Given the description of an element on the screen output the (x, y) to click on. 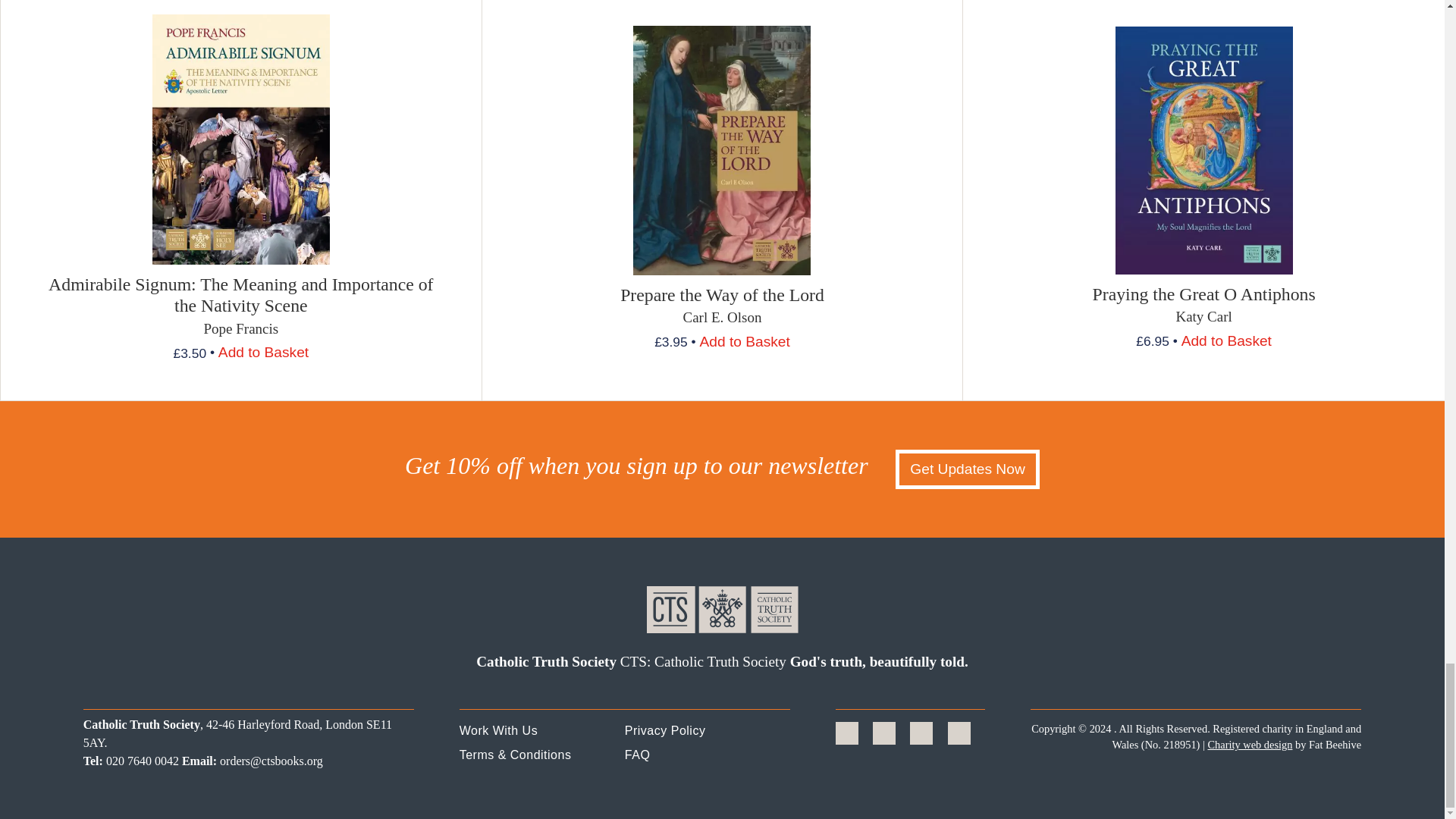
Twitter (884, 732)
Instagram (921, 732)
Youtube (959, 732)
Facebook (847, 732)
